Given the description of an element on the screen output the (x, y) to click on. 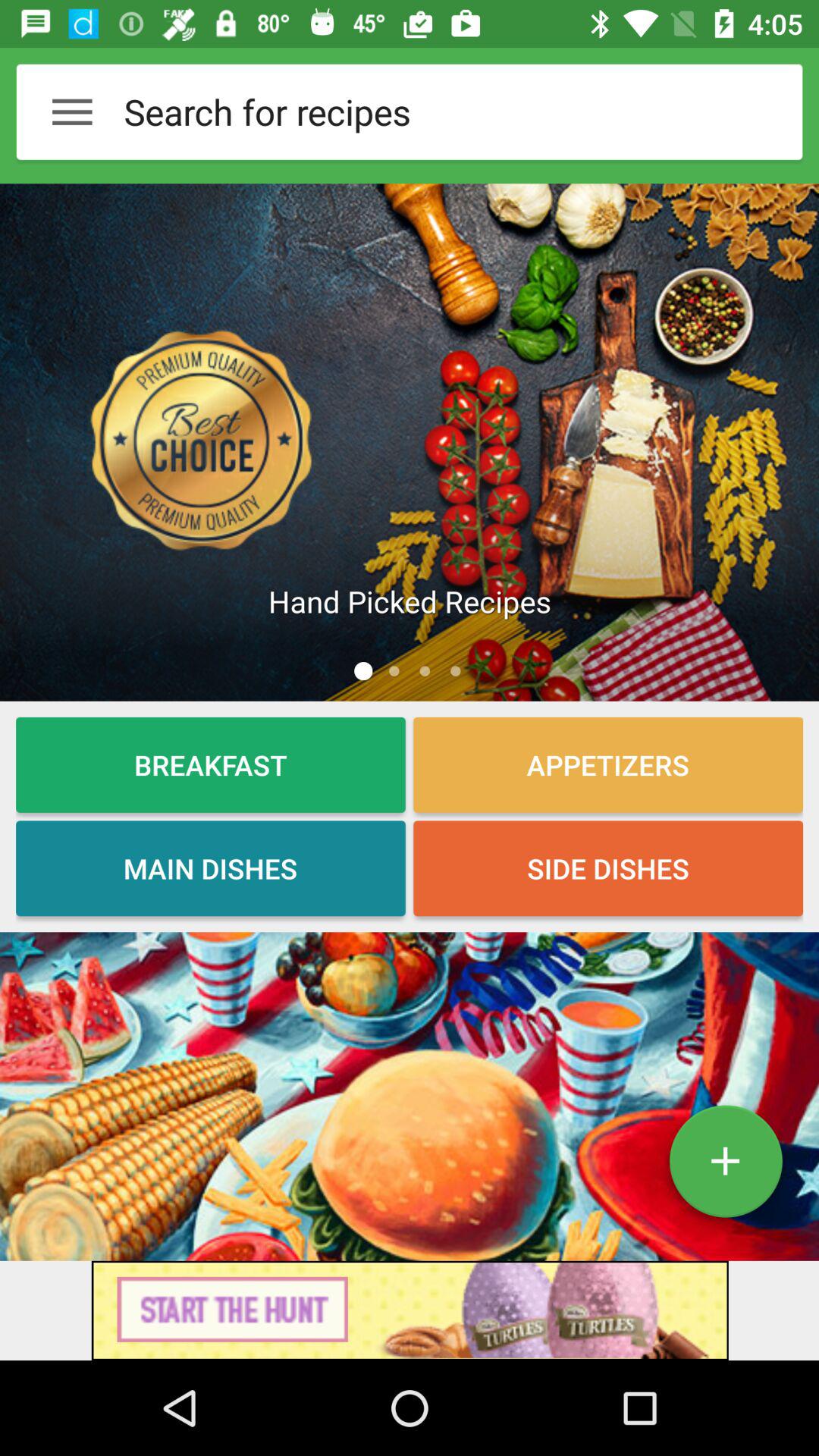
add option (725, 1167)
